Given the description of an element on the screen output the (x, y) to click on. 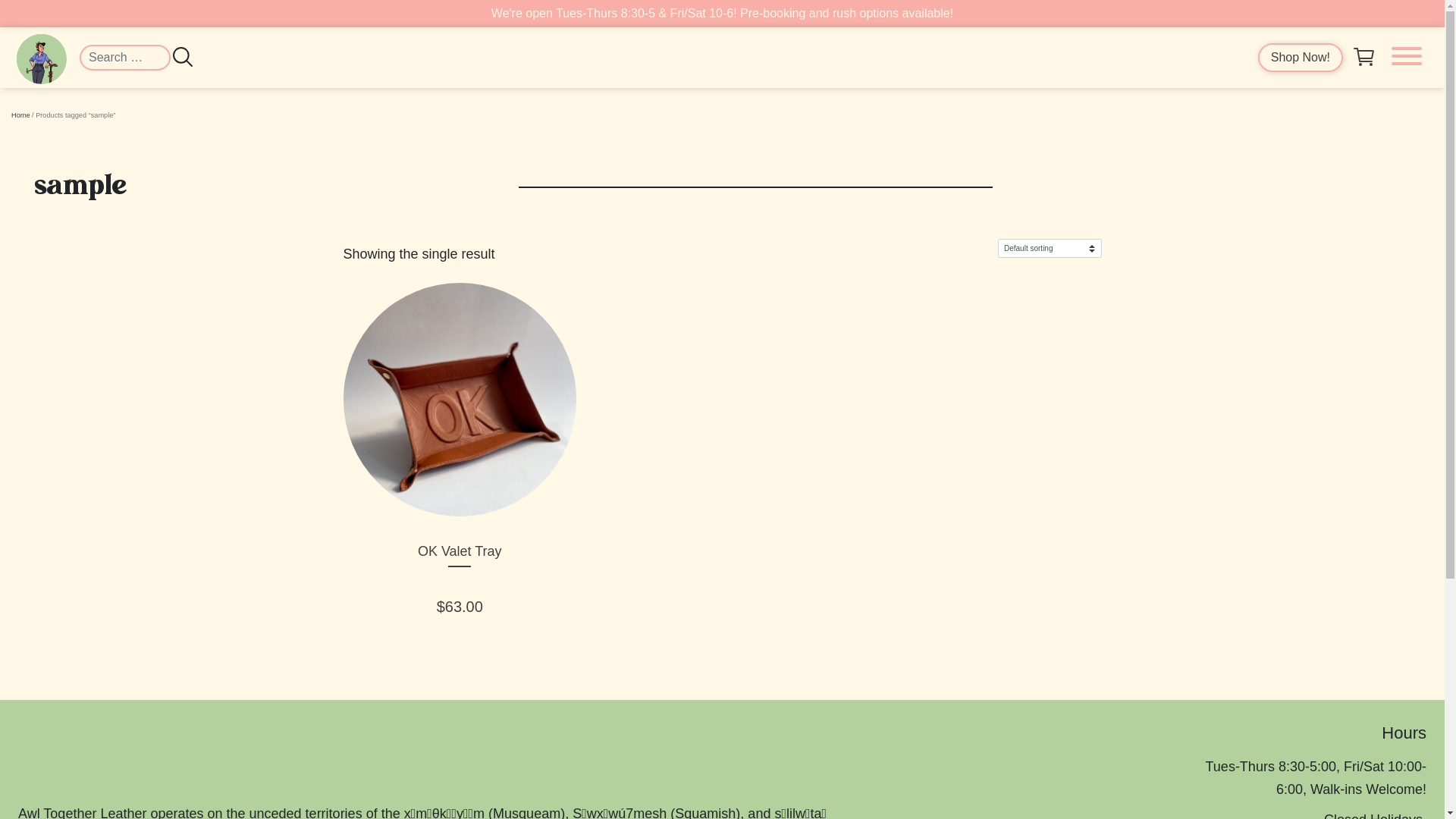
Home Element type: text (20, 115)
Shop Now! Element type: text (1300, 56)
View your shopping cart Element type: hover (1364, 63)
OK Valet Tray
$63.00 Element type: text (459, 451)
